Given the description of an element on the screen output the (x, y) to click on. 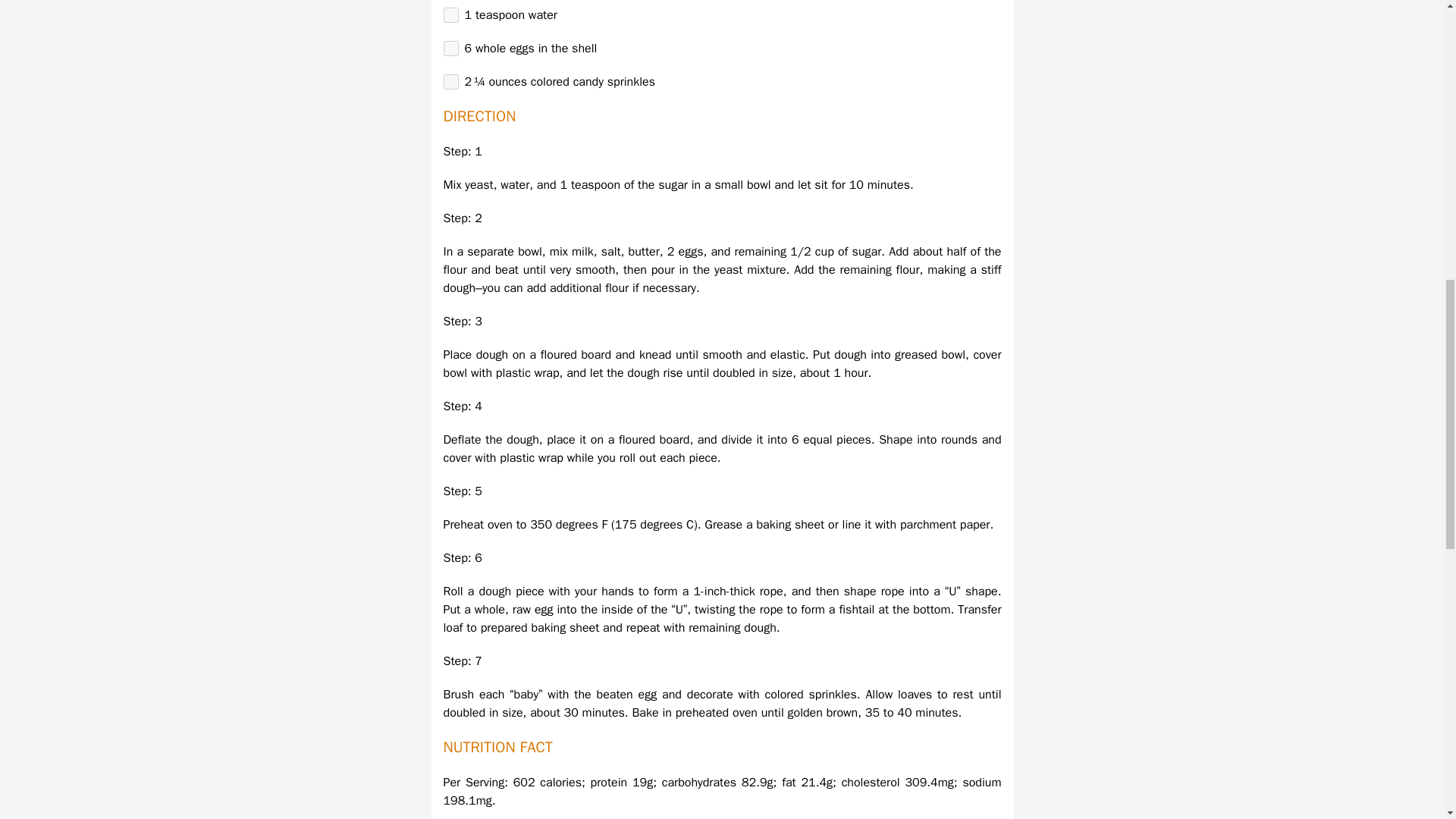
on (450, 48)
on (450, 14)
on (450, 81)
